Given the description of an element on the screen output the (x, y) to click on. 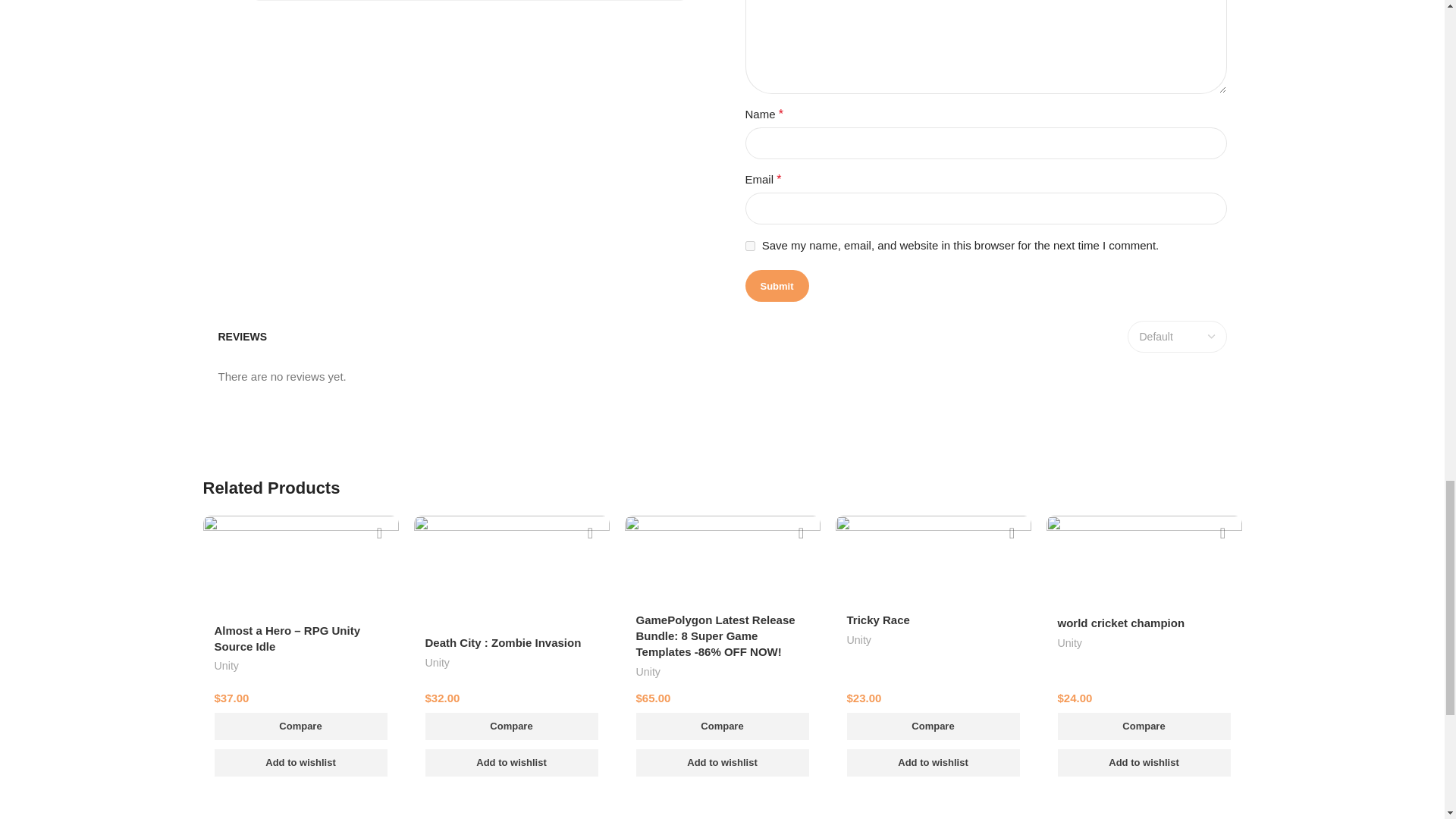
Submit (776, 286)
yes (749, 245)
